Given the description of an element on the screen output the (x, y) to click on. 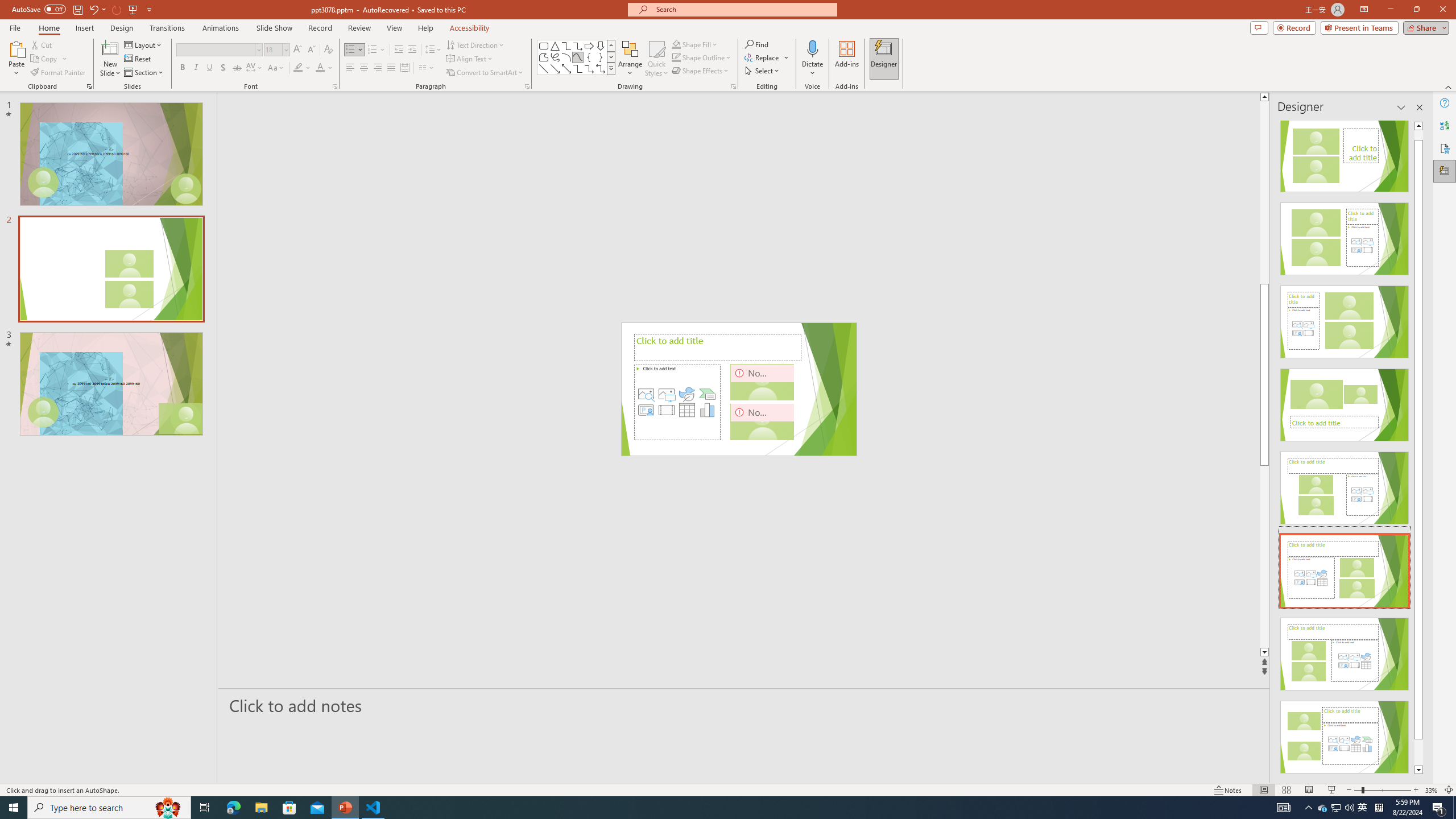
Insert an Icon (686, 394)
